Given the description of an element on the screen output the (x, y) to click on. 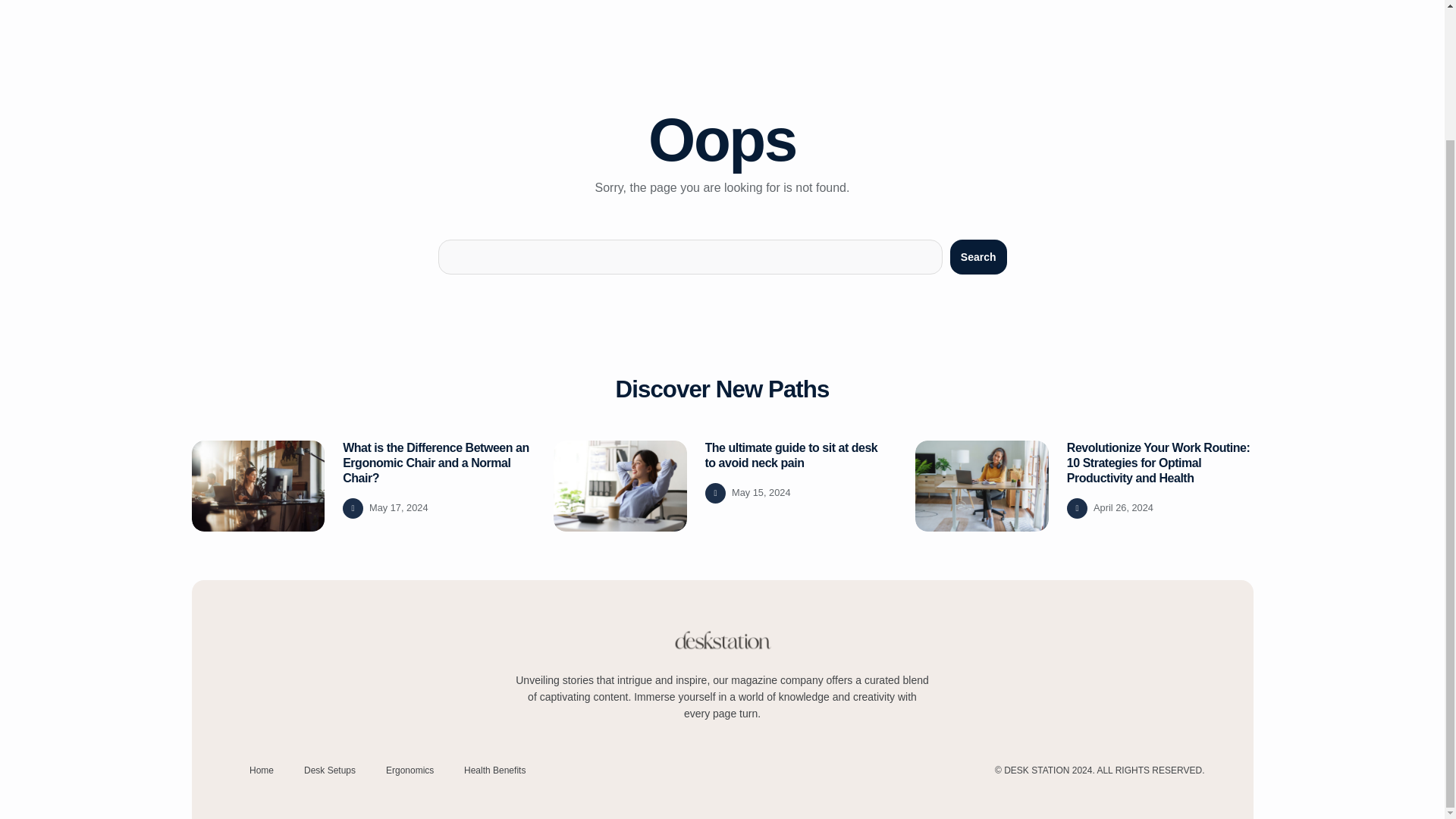
The ultimate guide to sit at desk to avoid neck pain (790, 455)
Home (261, 770)
Health Benefits (494, 770)
Search (978, 256)
May 15, 2024 (761, 492)
April 26, 2024 (1123, 507)
May 17, 2024 (398, 507)
Ergonomics (409, 770)
Desk Setups (330, 770)
